Given the description of an element on the screen output the (x, y) to click on. 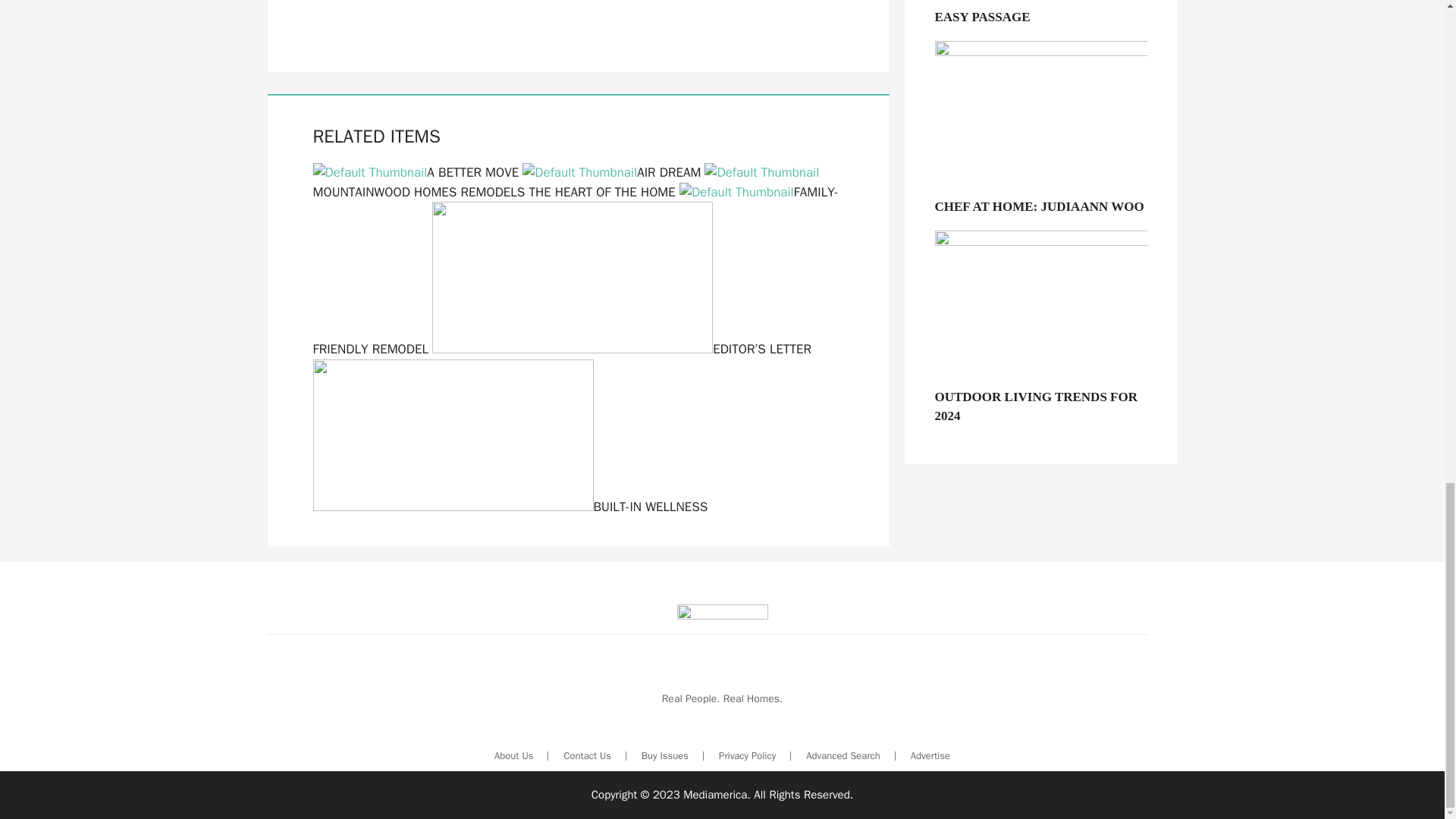
AIR DREAM (611, 172)
FAMILY-FRIENDLY REMODEL (575, 270)
Built-In Wellness (510, 506)
Mountainwood Homes remodels the heart of the home (565, 181)
Family-Friendly Remodel (575, 270)
Air Dream (611, 172)
A better move (415, 172)
MOUNTAINWOOD HOMES REMODELS THE HEART OF THE HOME (565, 181)
A BETTER MOVE (415, 172)
BUILT-IN WELLNESS (510, 506)
